Given the description of an element on the screen output the (x, y) to click on. 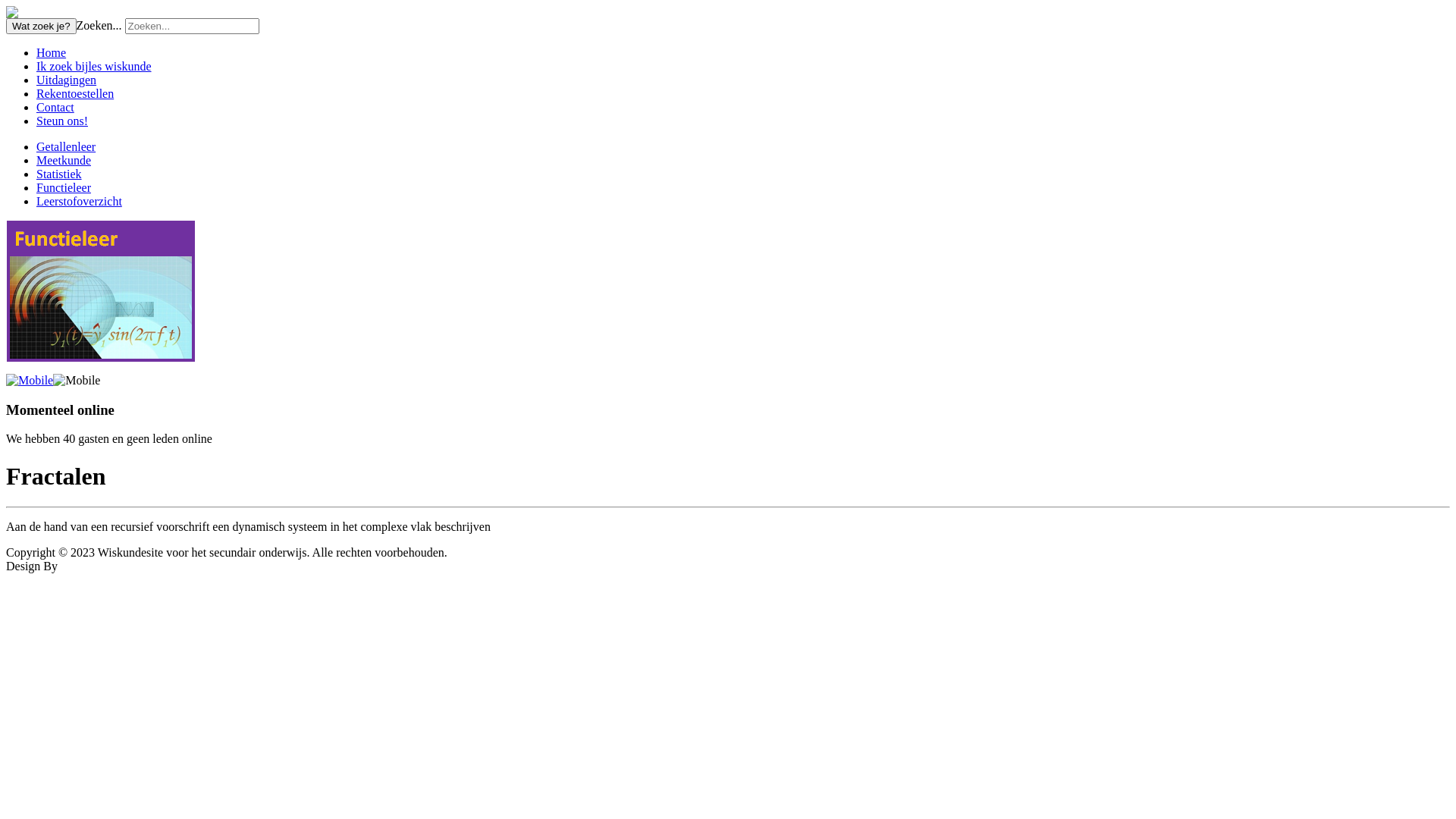
Wat zoek je? Element type: text (41, 26)
Leerstofoverzicht Element type: text (79, 200)
Contact Element type: text (55, 106)
Steun ons! Element type: text (61, 120)
Meetkunde Element type: text (63, 159)
Home Element type: text (50, 52)
Functieleer Element type: text (63, 187)
Rekentoestellen Element type: text (74, 93)
Uitdagingen Element type: text (66, 79)
Statistiek Element type: text (58, 173)
Getallenleer Element type: text (65, 146)
Ik zoek bijles wiskunde Element type: text (93, 65)
